Given the description of an element on the screen output the (x, y) to click on. 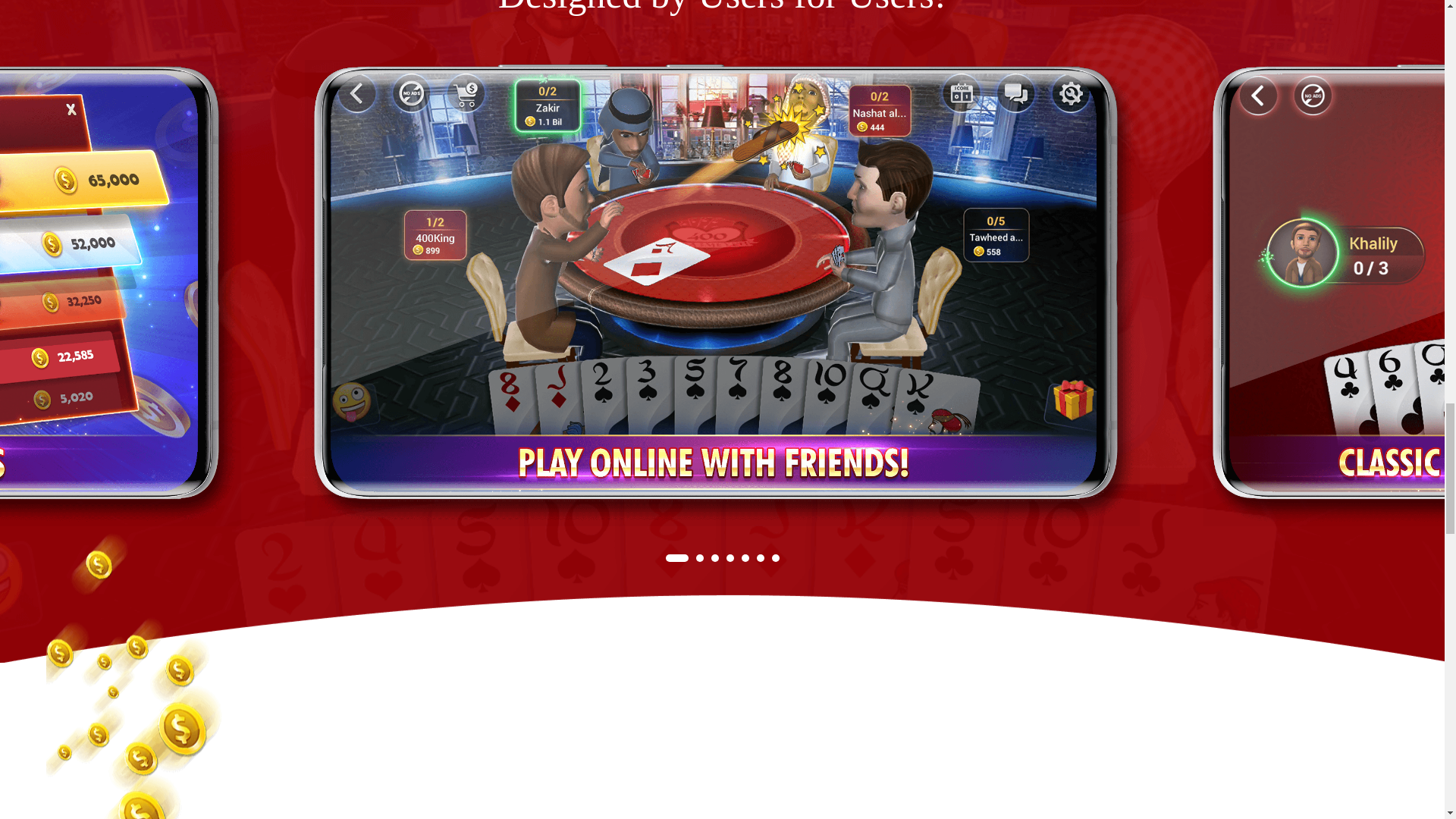
5 (745, 557)
2 (699, 557)
6 (760, 557)
7 (774, 557)
1 (676, 557)
3 (715, 557)
4 (729, 557)
